Given the description of an element on the screen output the (x, y) to click on. 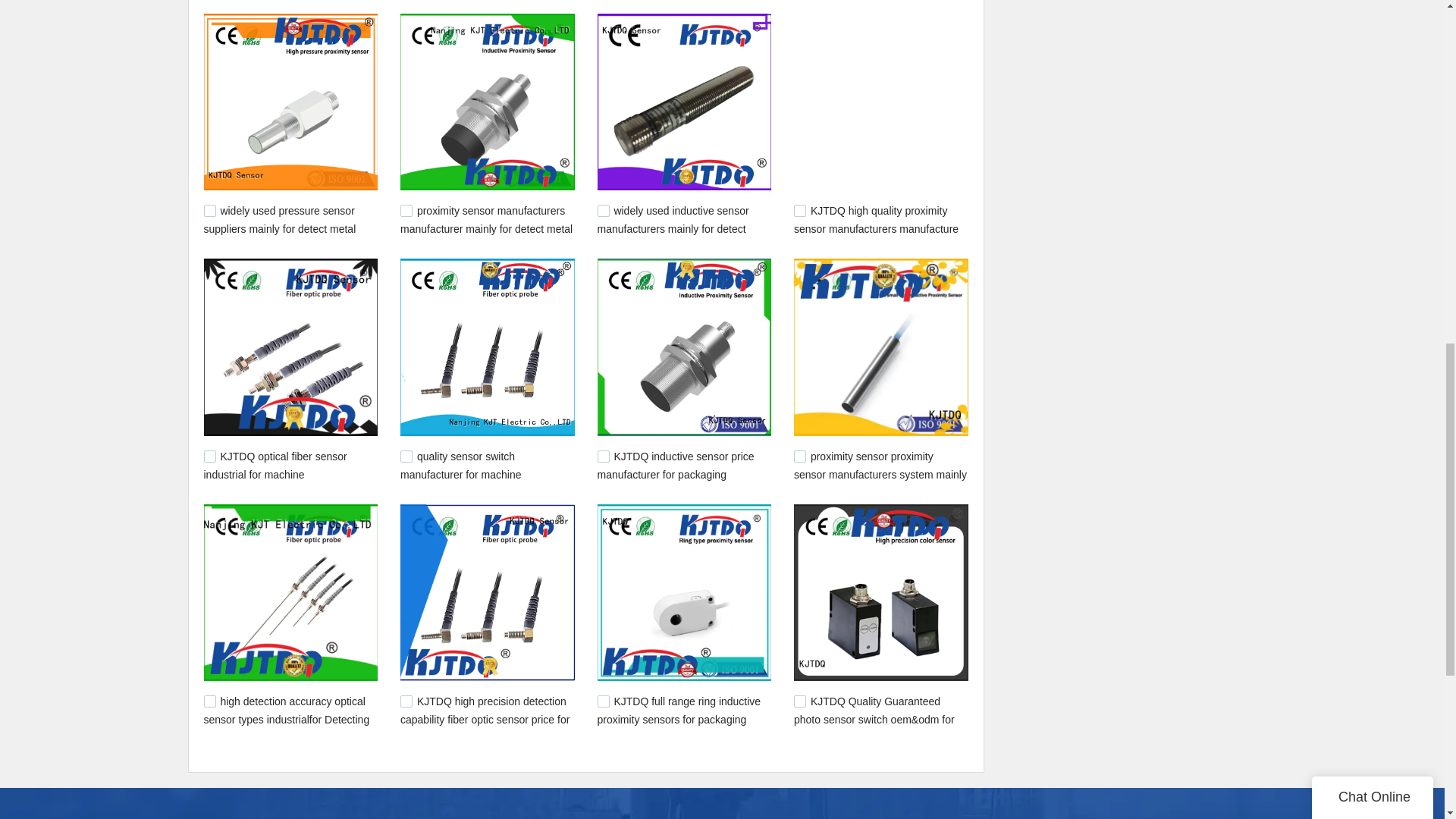
quality sensor switch manufacturer for machine (460, 465)
1733 (603, 456)
1824 (406, 456)
1880 (799, 210)
1621 (799, 701)
1956 (209, 210)
